Given the description of an element on the screen output the (x, y) to click on. 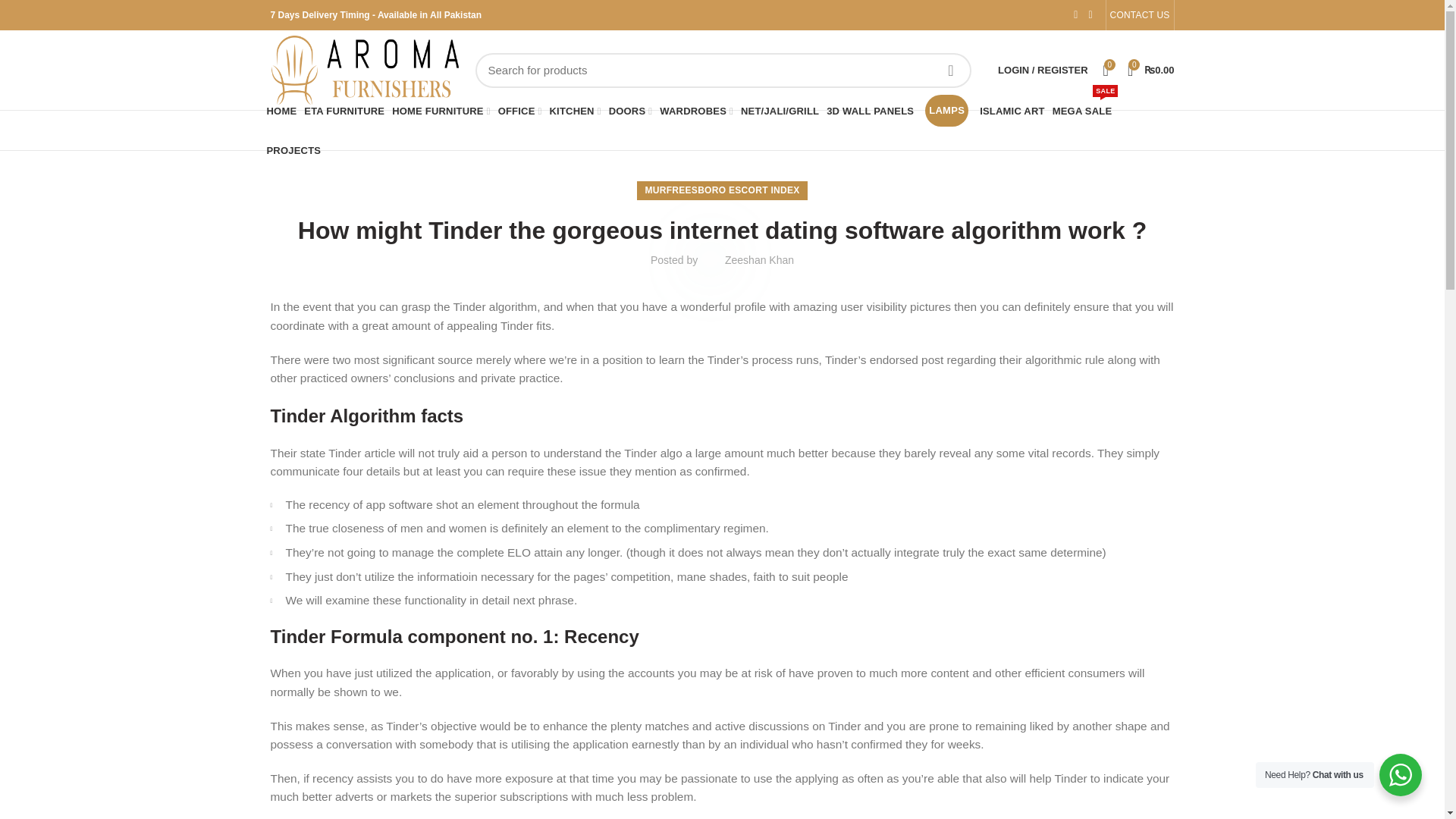
Shopping cart (1150, 69)
SEARCH (950, 70)
HOME (280, 110)
HOME FURNITURE (440, 110)
My account (1042, 69)
CONTACT US (1139, 15)
ETA FURNITURE (343, 110)
